Given the description of an element on the screen output the (x, y) to click on. 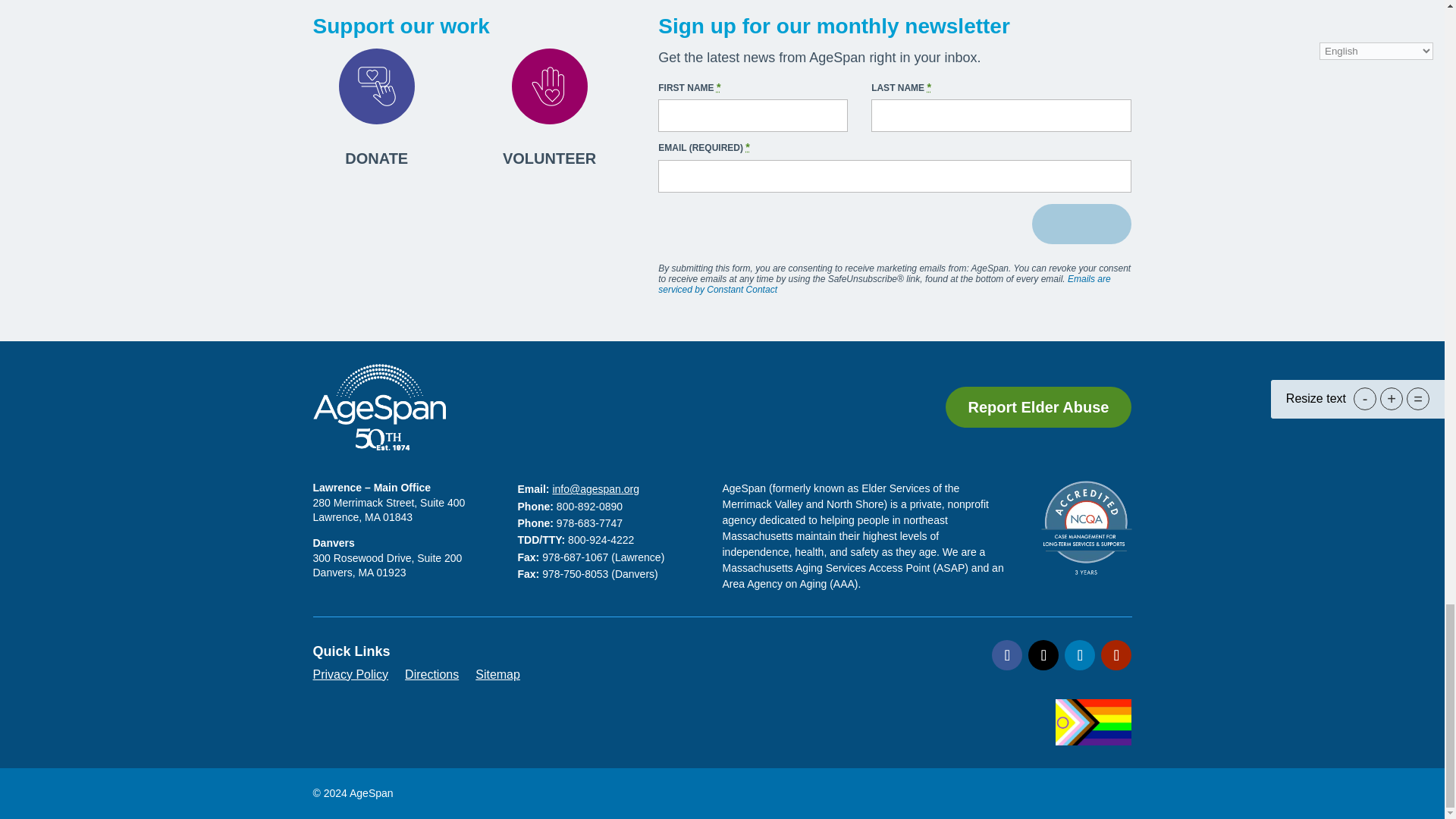
Follow on Facebook (1006, 654)
donate-icon (376, 86)
required (928, 86)
required (718, 86)
Follow on X (1042, 654)
NCQA (1086, 527)
Follow on Youtube (1115, 654)
required (747, 146)
Follow on LinkedIn (1079, 654)
volunteer-icon (547, 86)
Subscribe (1081, 223)
